Given the description of an element on the screen output the (x, y) to click on. 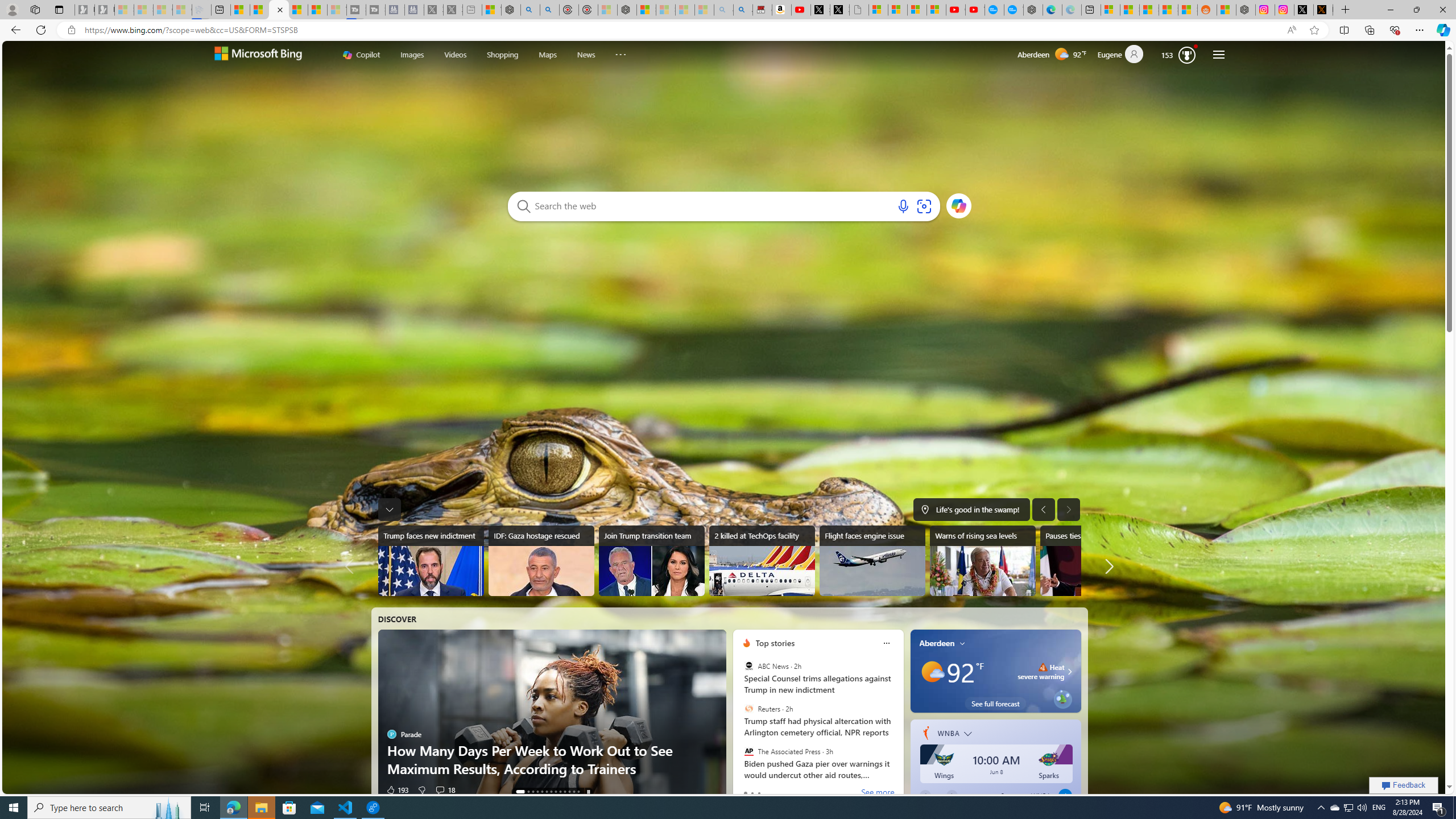
Class: weather-arrow-glyph (1069, 671)
poe ++ standard - Search (549, 9)
next (897, 715)
tab-1 (751, 793)
AutomationID: tab-10 (569, 791)
See more WNBA (1016, 795)
X (839, 9)
Warns of rising sea levels (981, 560)
Settings and quick links (1218, 54)
Aberdeen (936, 643)
Shanghai, China Weather trends | Microsoft Weather (1187, 9)
Reuters (749, 709)
